Given the description of an element on the screen output the (x, y) to click on. 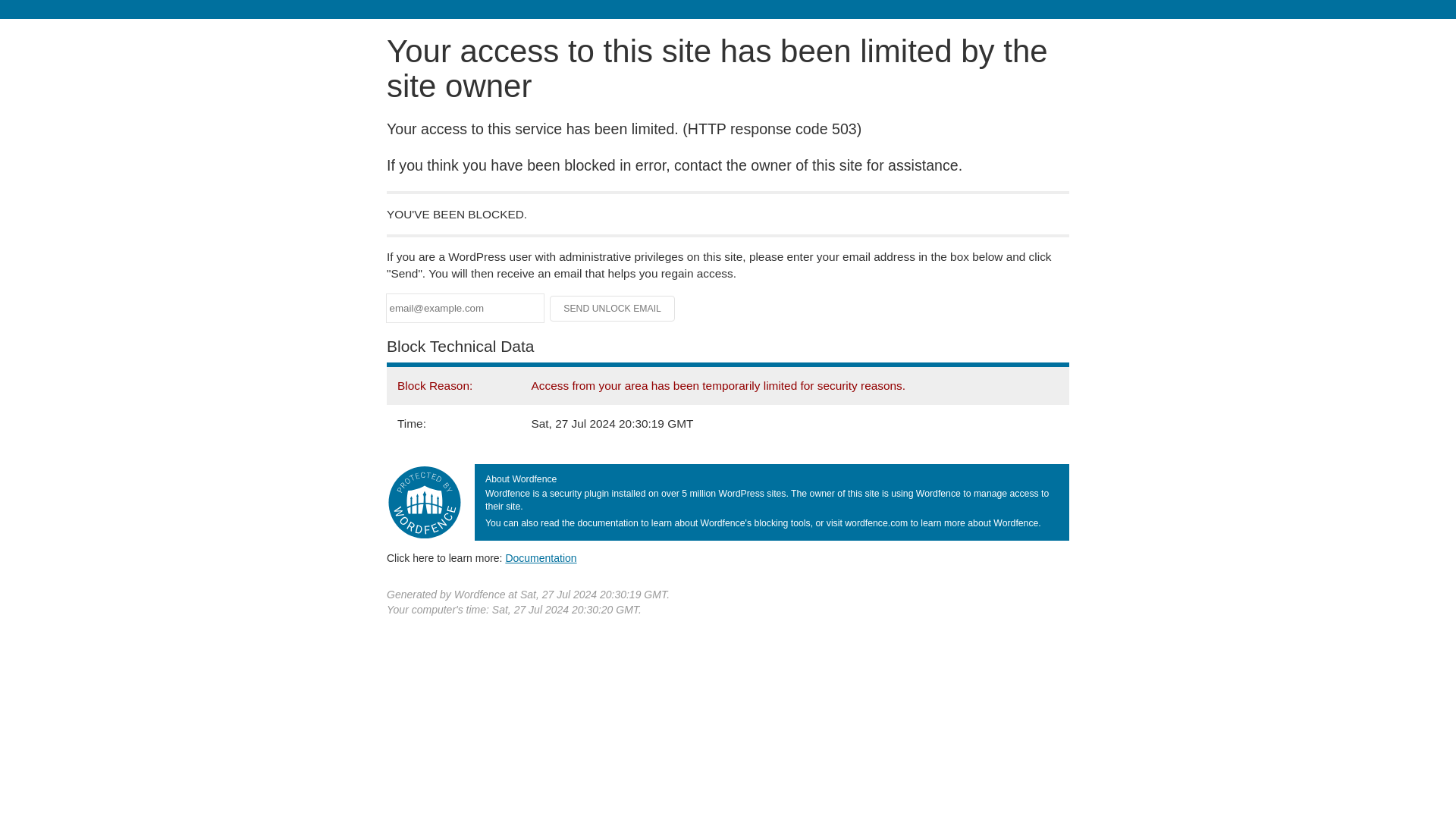
Documentation (540, 558)
Send Unlock Email (612, 308)
Send Unlock Email (612, 308)
